Given the description of an element on the screen output the (x, y) to click on. 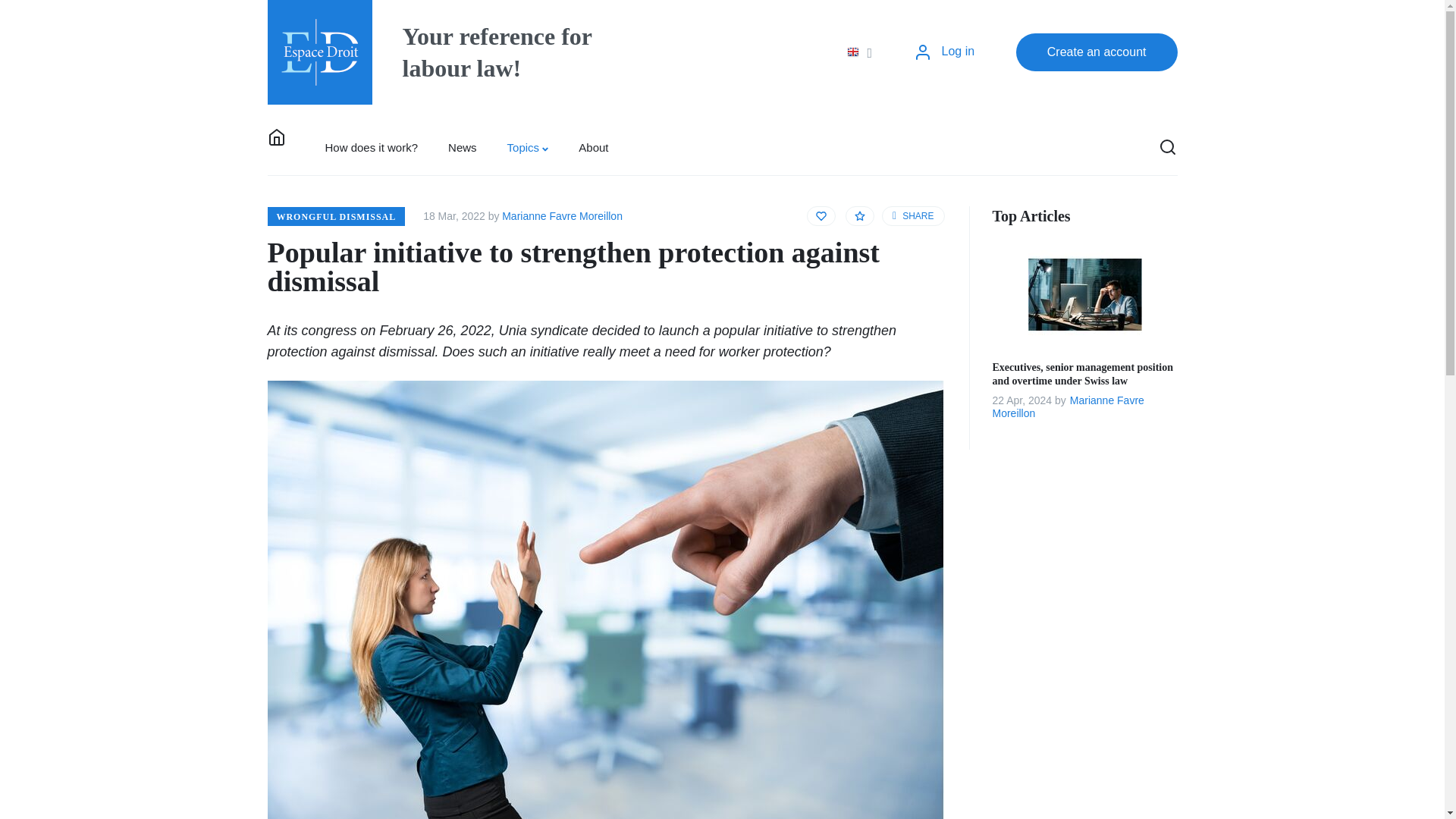
Search... (1104, 147)
Topics (528, 147)
News (462, 147)
Create an account (1096, 52)
Add to Favorites (860, 216)
How does it work? (370, 147)
WRONGFUL DISMISSAL (335, 215)
Add to wish list (820, 216)
About (593, 147)
Log in (944, 52)
